Given the description of an element on the screen output the (x, y) to click on. 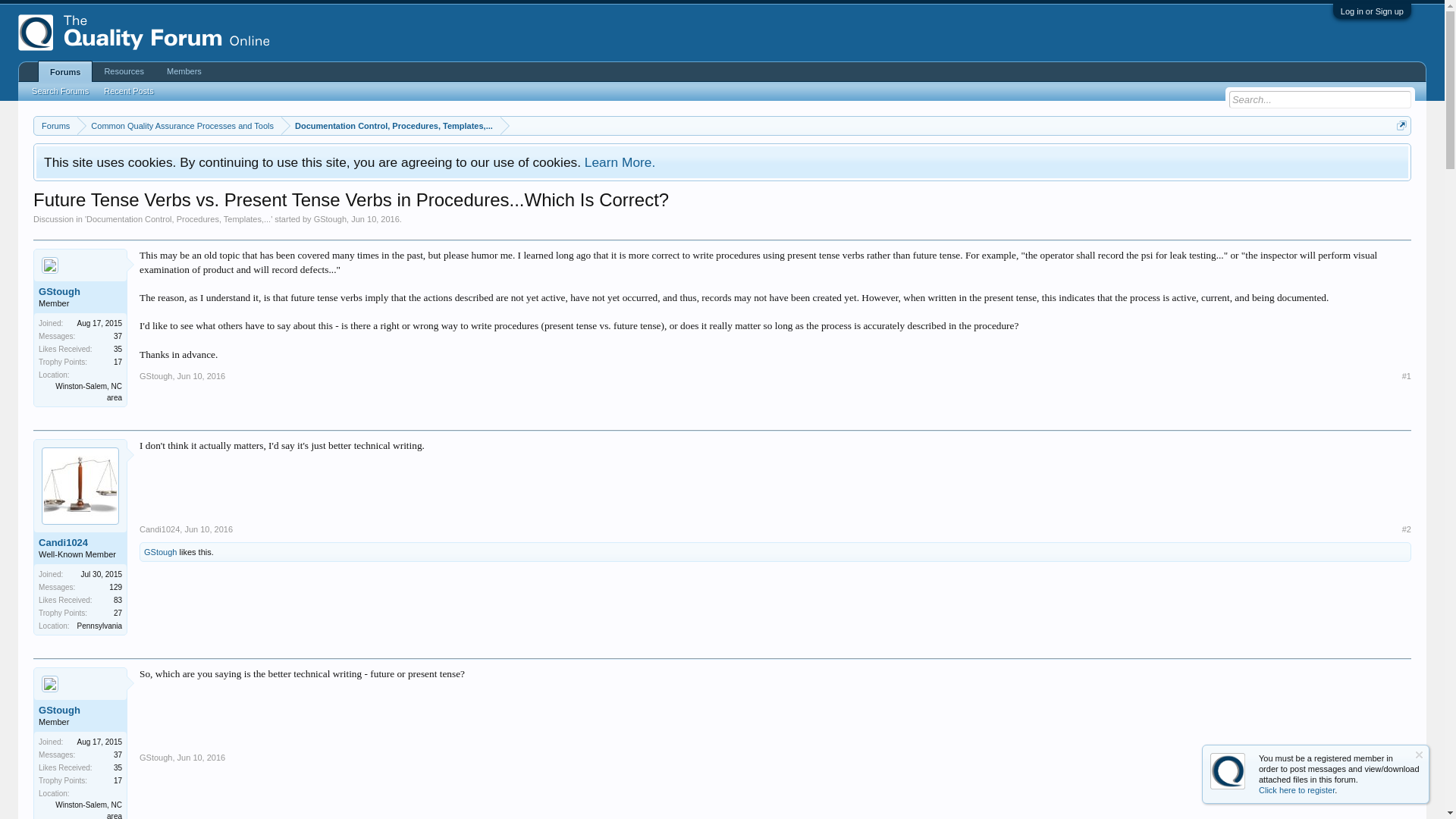
37 (117, 755)
Jun 10, 2016 (374, 218)
GStough (155, 375)
Permalink (201, 757)
Permalink (201, 375)
Learn More. (620, 161)
129 (115, 587)
27 (117, 613)
Documentation Control, Procedures, Templates,... (177, 218)
